Given the description of an element on the screen output the (x, y) to click on. 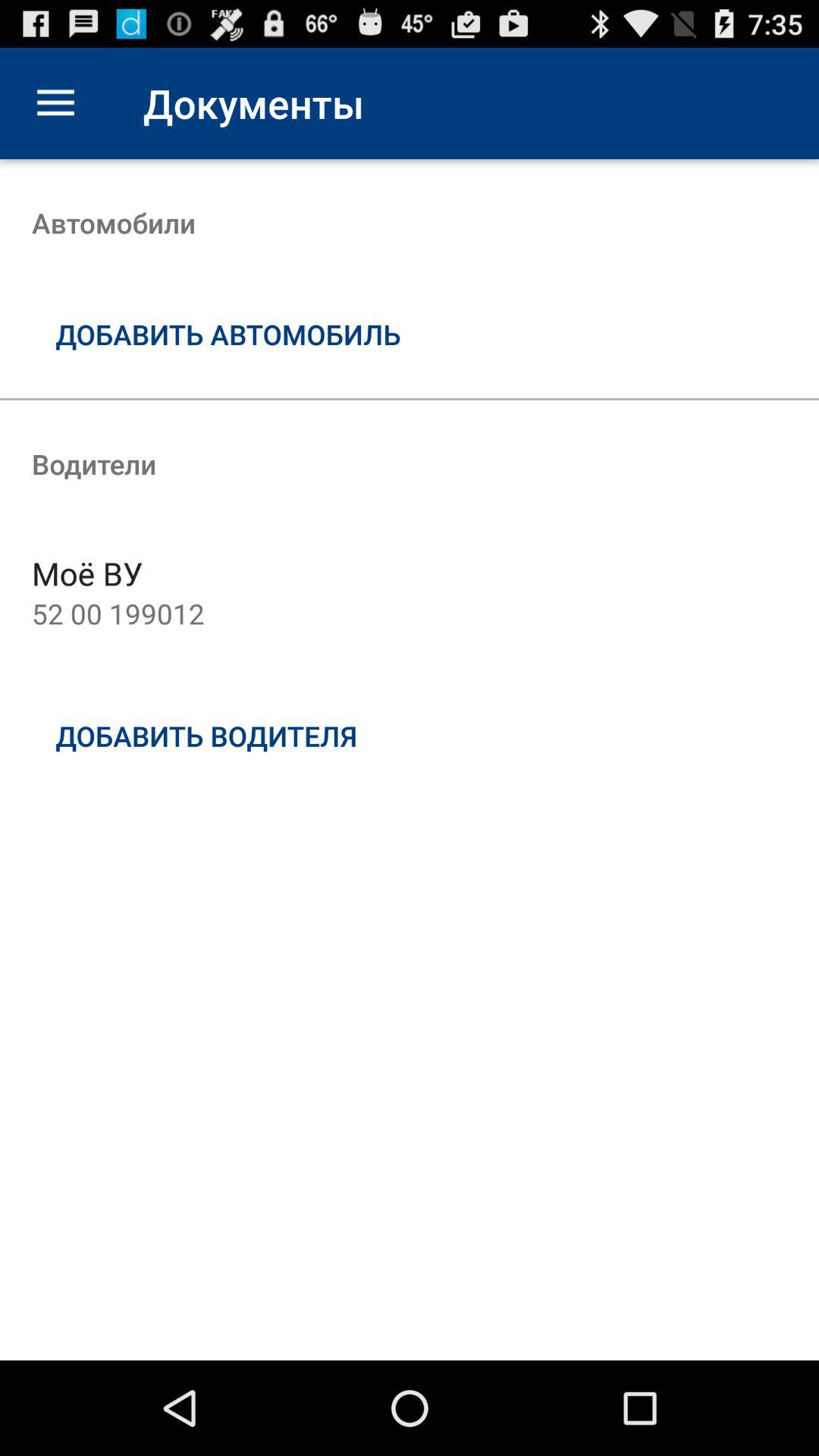
click the item below 52 00 199012 item (409, 735)
